Given the description of an element on the screen output the (x, y) to click on. 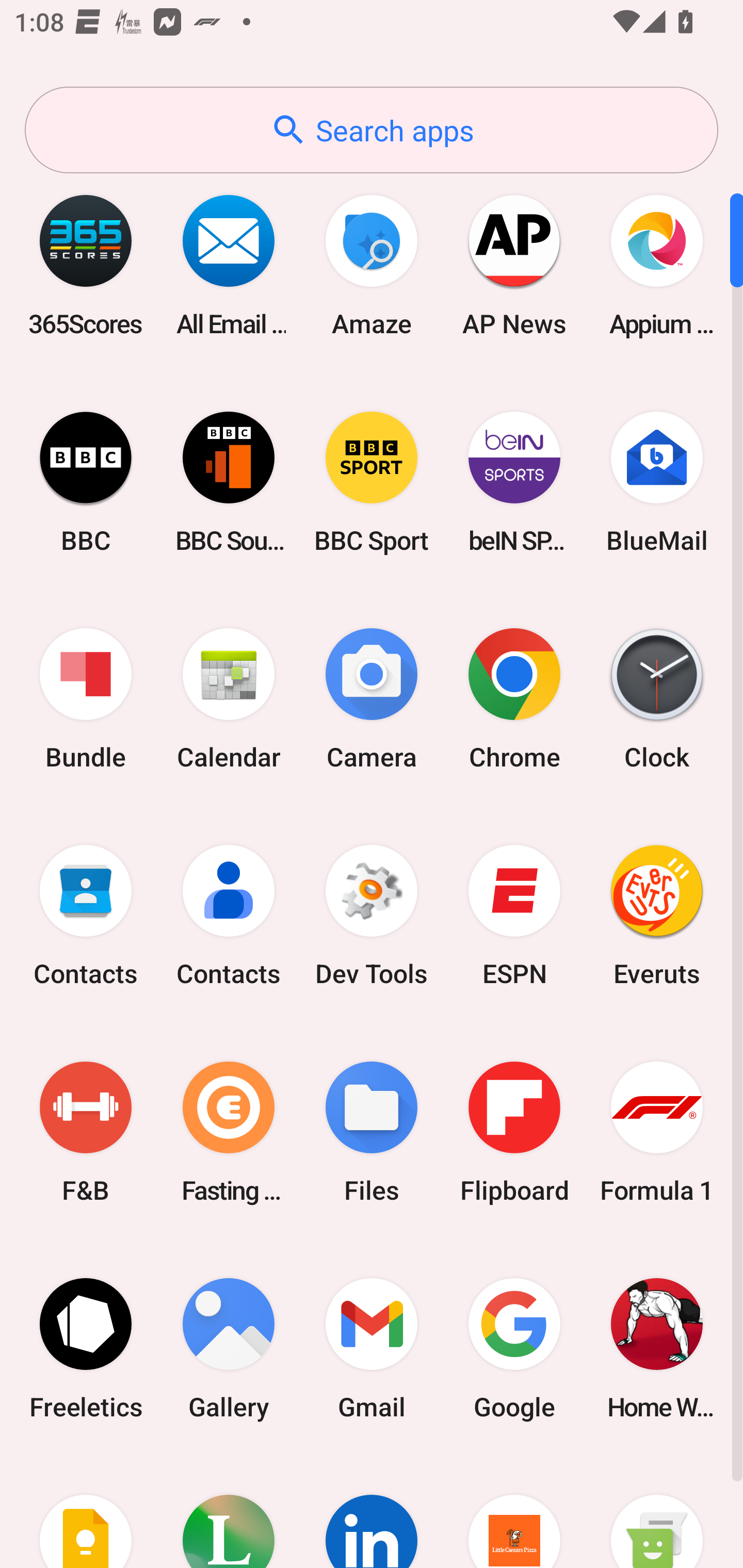
  Search apps (371, 130)
365Scores (85, 264)
All Email Connect (228, 264)
Amaze (371, 264)
AP News (514, 264)
Appium Settings (656, 264)
BBC (85, 482)
BBC Sounds (228, 482)
BBC Sport (371, 482)
beIN SPORTS (514, 482)
BlueMail (656, 482)
Bundle (85, 699)
Calendar (228, 699)
Camera (371, 699)
Chrome (514, 699)
Clock (656, 699)
Contacts (85, 915)
Contacts (228, 915)
Dev Tools (371, 915)
ESPN (514, 915)
Everuts (656, 915)
F&B (85, 1131)
Fasting Coach (228, 1131)
Files (371, 1131)
Flipboard (514, 1131)
Formula 1 (656, 1131)
Freeletics (85, 1348)
Gallery (228, 1348)
Gmail (371, 1348)
Google (514, 1348)
Home Workout (656, 1348)
Keep Notes (85, 1512)
Lifesum (228, 1512)
LinkedIn (371, 1512)
Little Caesars Pizza (514, 1512)
Messaging (656, 1512)
